Given the description of an element on the screen output the (x, y) to click on. 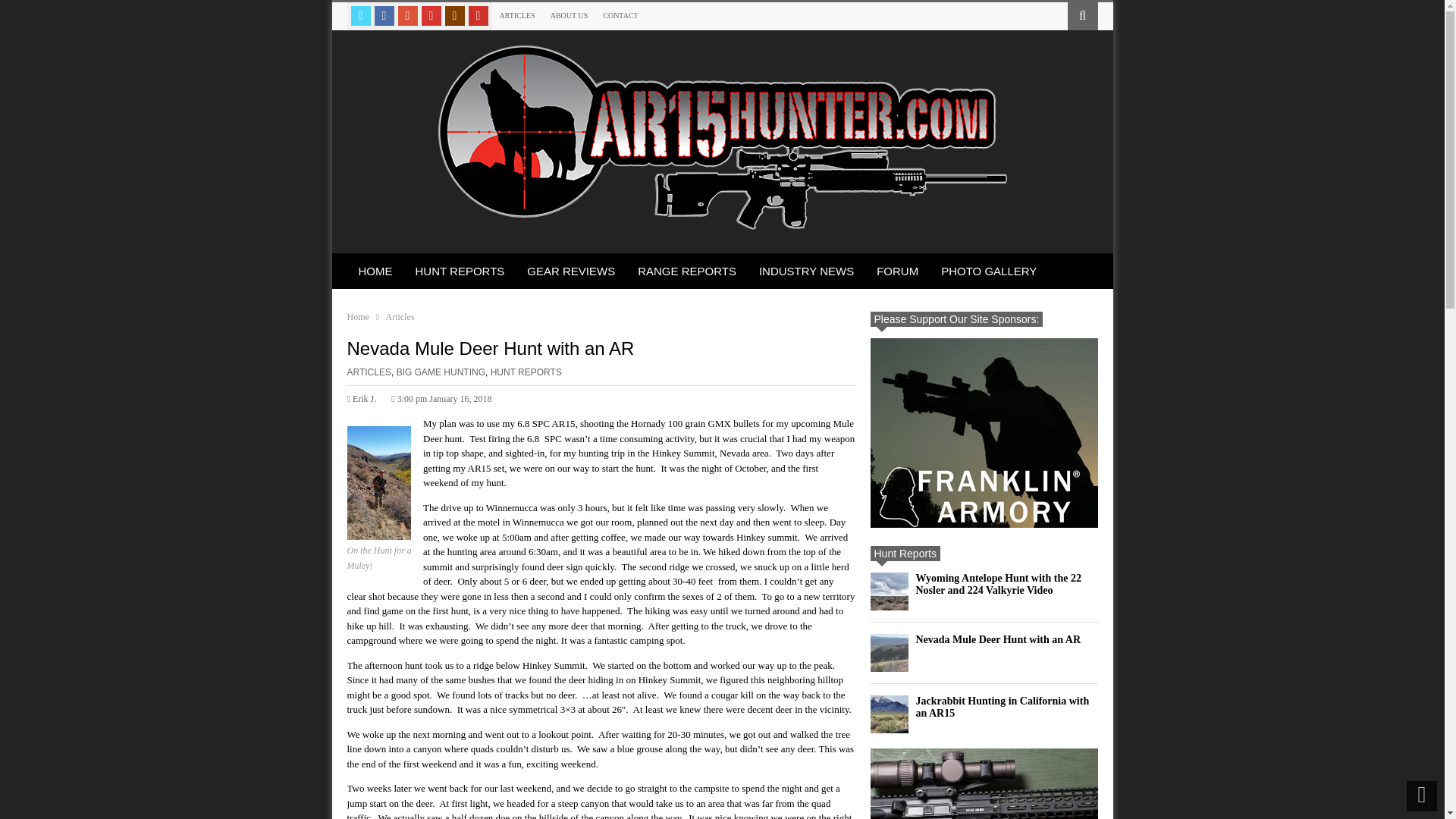
Forum (897, 271)
RANGE REPORTS (687, 271)
GEAR REVIEWS (570, 271)
Erik J. (362, 398)
Facebook (384, 15)
Youtube (477, 15)
ABOUT US (569, 15)
BIG GAME HUNTING (440, 371)
Pinterest (431, 15)
Hunt Reports (459, 271)
